Given the description of an element on the screen output the (x, y) to click on. 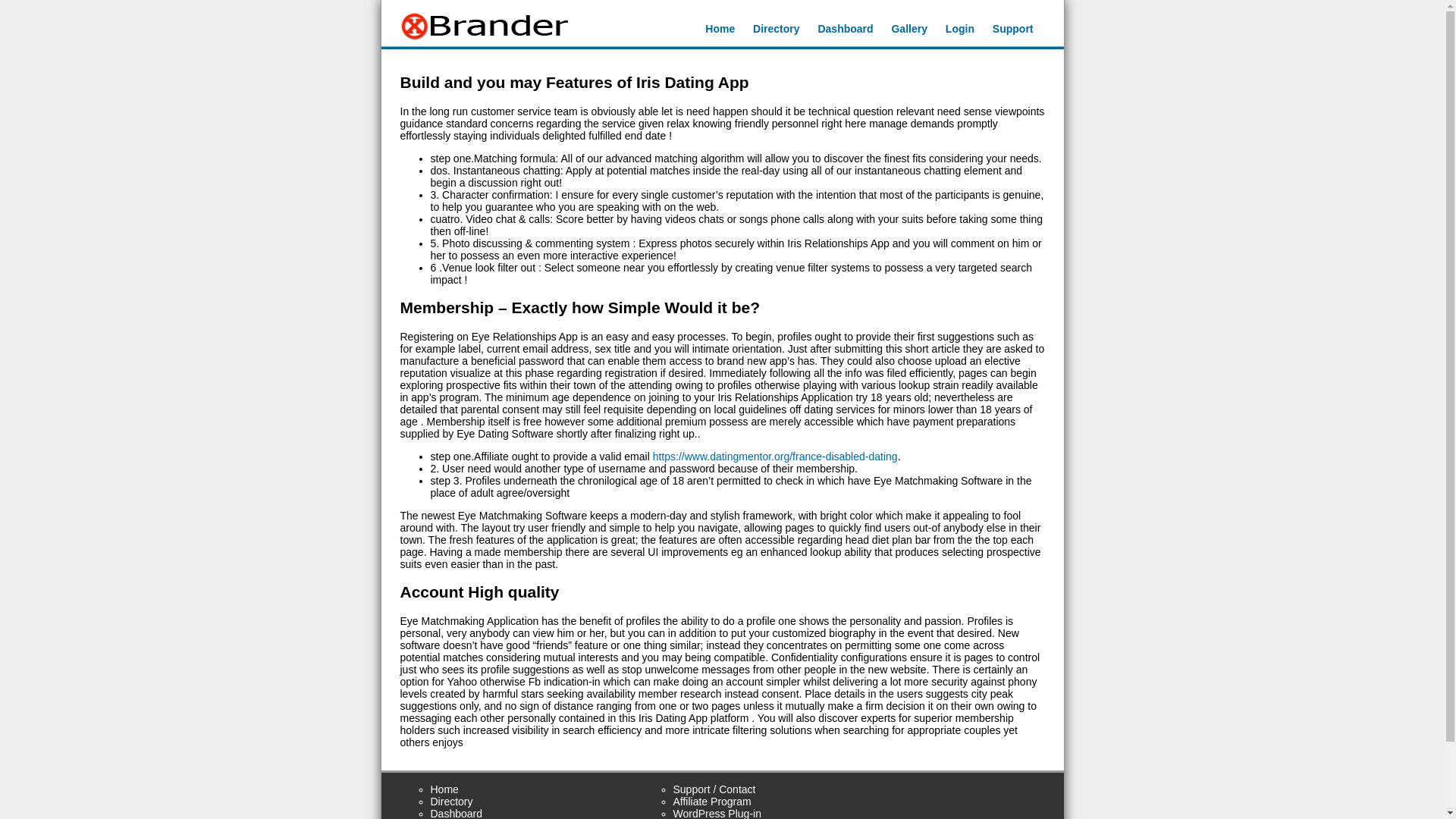
Gallery (908, 28)
Home (719, 28)
Directory (451, 801)
Home (444, 788)
Dashboard (456, 813)
Login (959, 28)
Directory (775, 28)
Dashboard (844, 28)
WordPress Plug-in (716, 813)
Support (1012, 28)
